Given the description of an element on the screen output the (x, y) to click on. 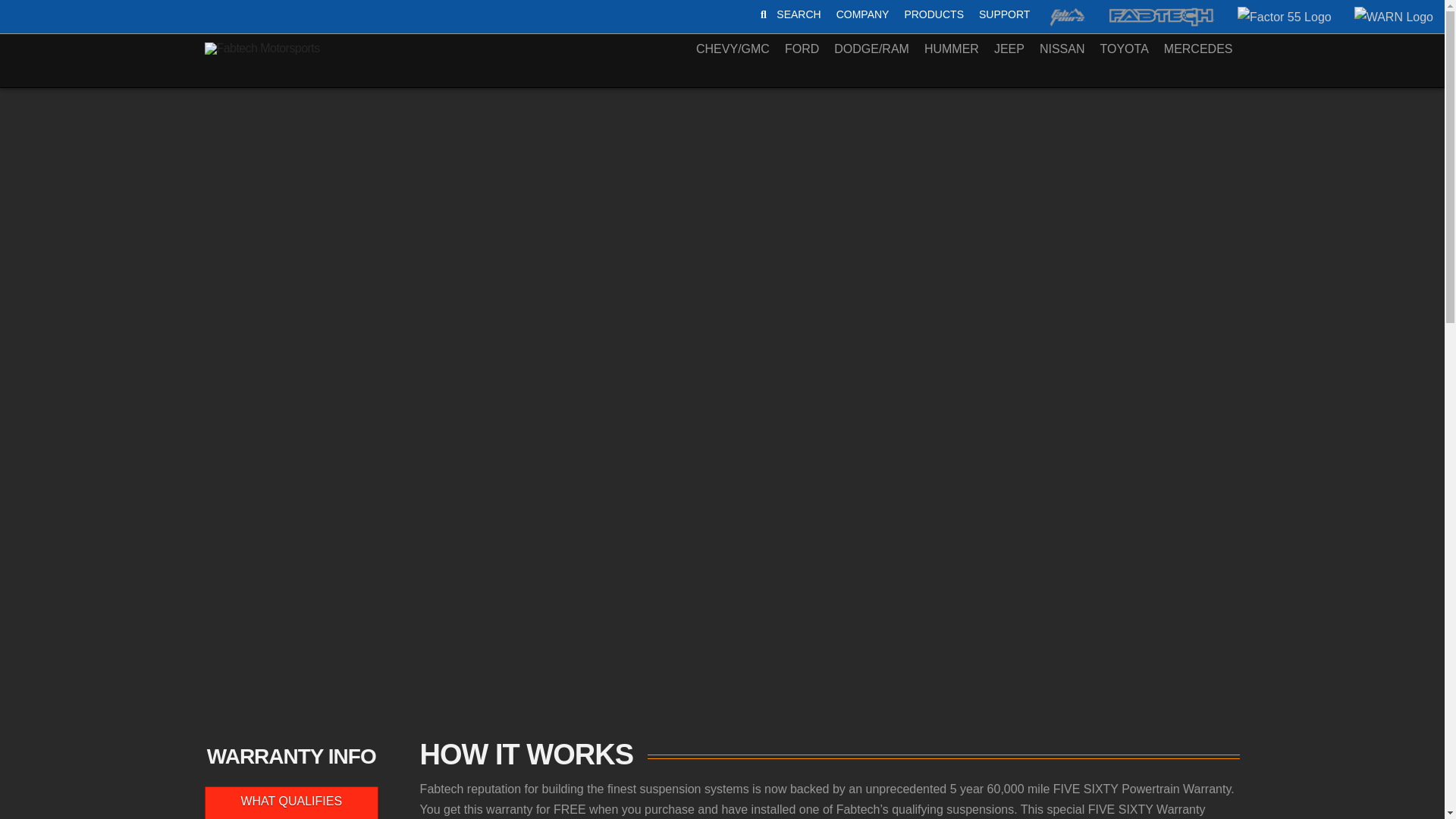
COMPANY (862, 14)
PRODUCTS (893, 14)
SUPPORT (933, 14)
